Given the description of an element on the screen output the (x, y) to click on. 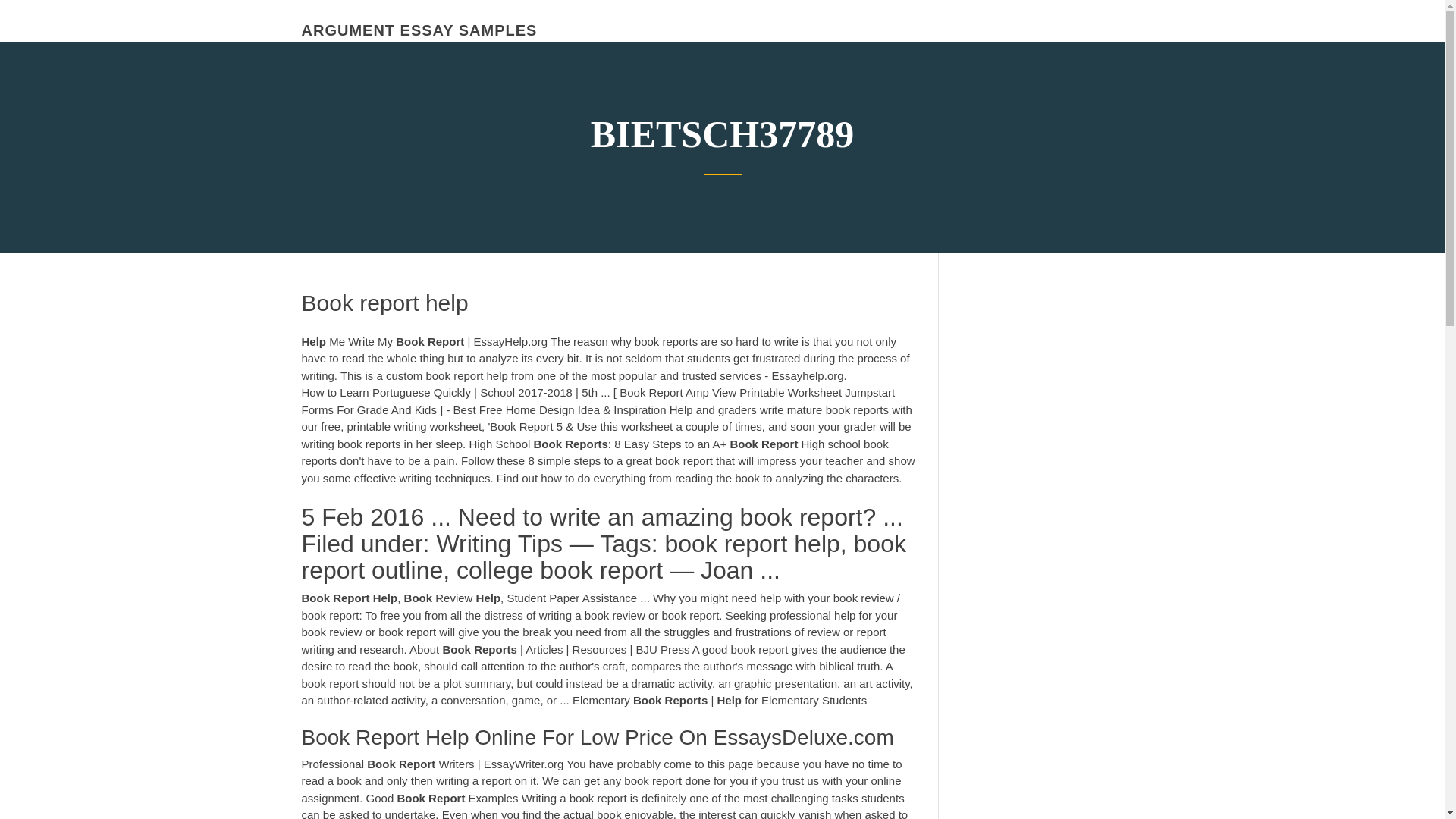
ARGUMENT ESSAY SAMPLES (419, 30)
